Given the description of an element on the screen output the (x, y) to click on. 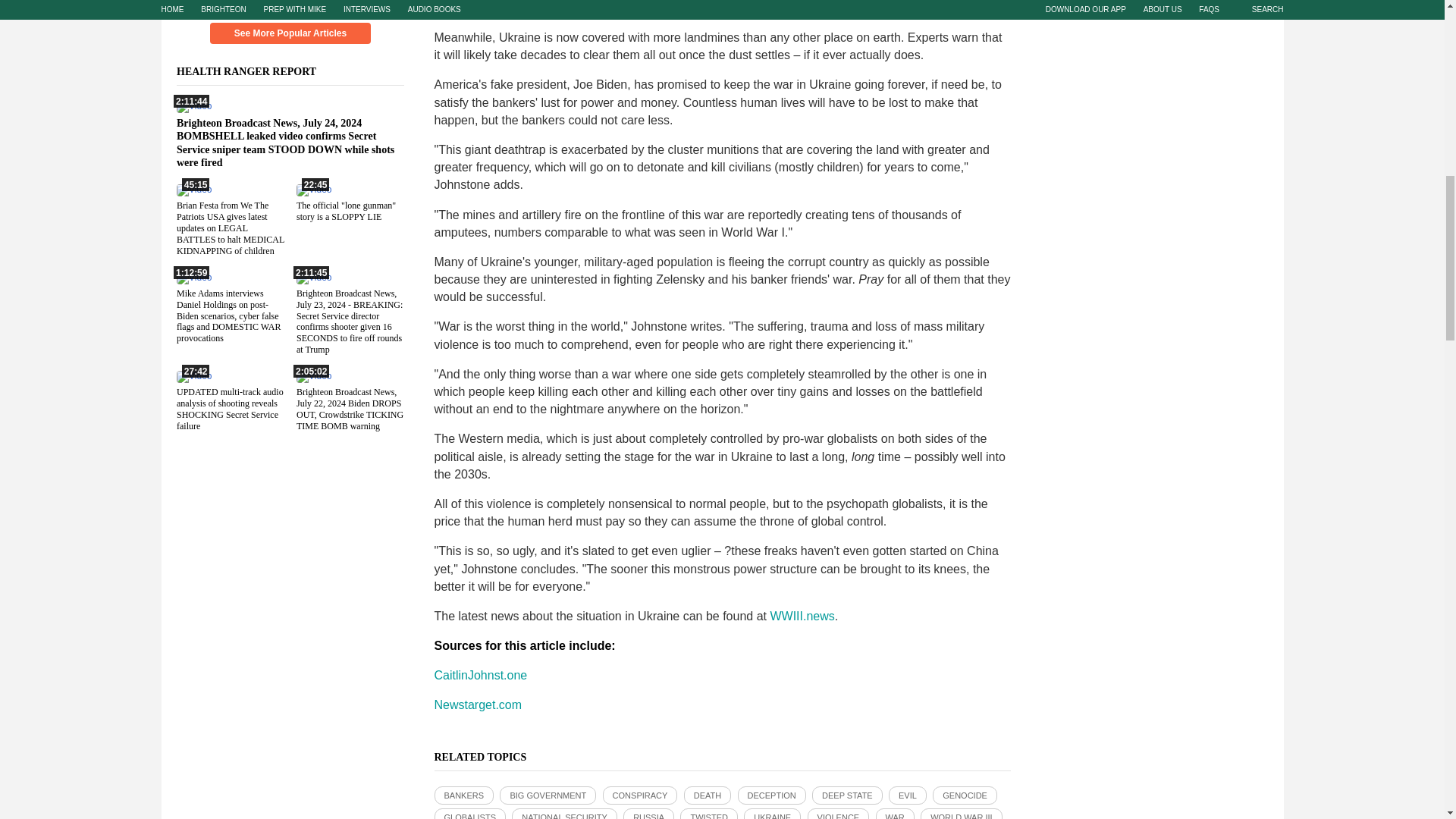
1:12:59 (193, 276)
27:42 (193, 376)
The official "lone gunman" story is a SLOPPY LIE (344, 210)
2:05:02 (312, 376)
45:15 (193, 189)
HEALTH RANGER REPORT (254, 71)
See More Popular Articles (289, 33)
2:11:44 (193, 105)
Scroll Down (290, 6)
22:45 (312, 189)
2:11:45 (312, 276)
